Given the description of an element on the screen output the (x, y) to click on. 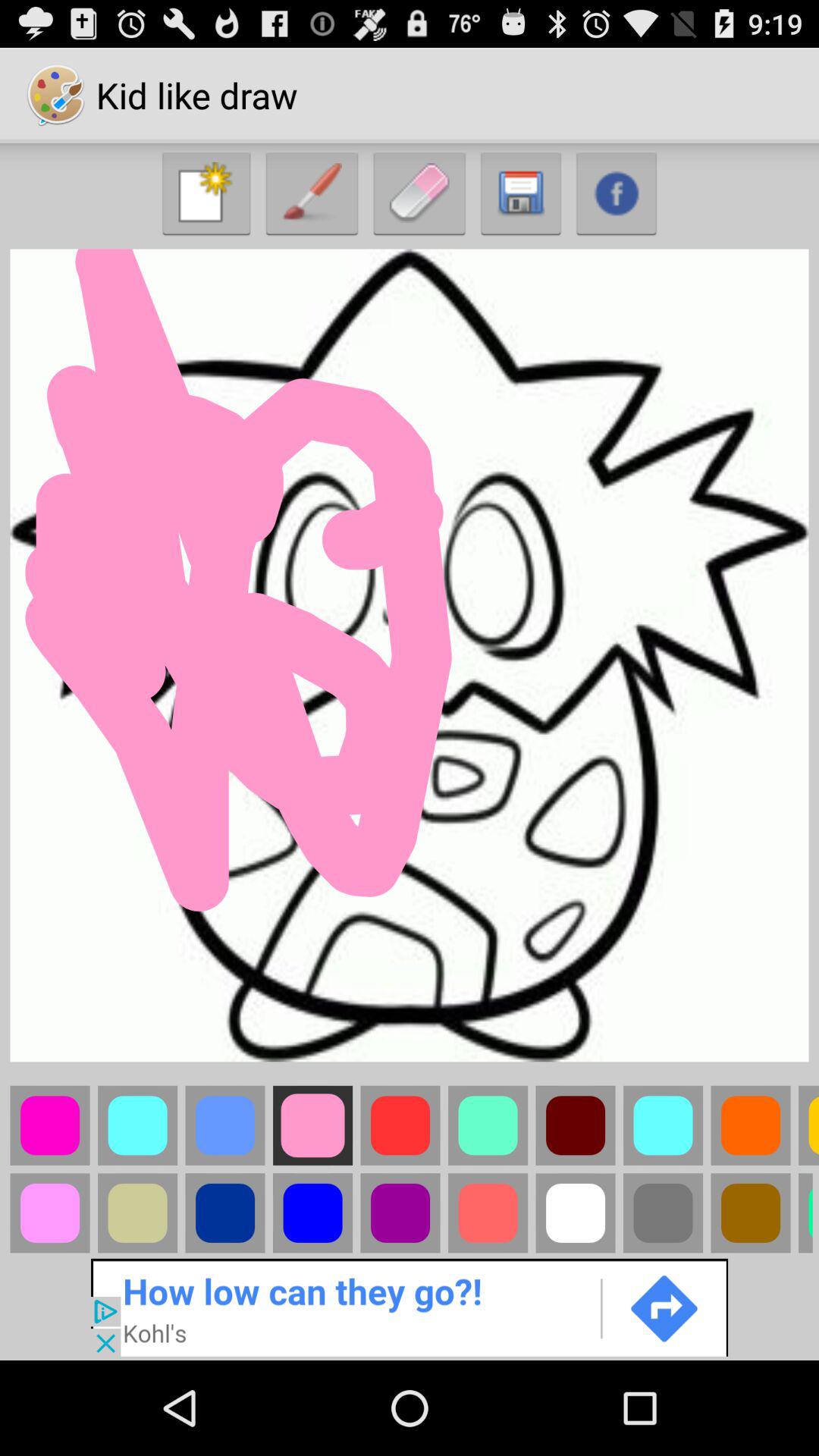
go to the advertised site (409, 1306)
